Given the description of an element on the screen output the (x, y) to click on. 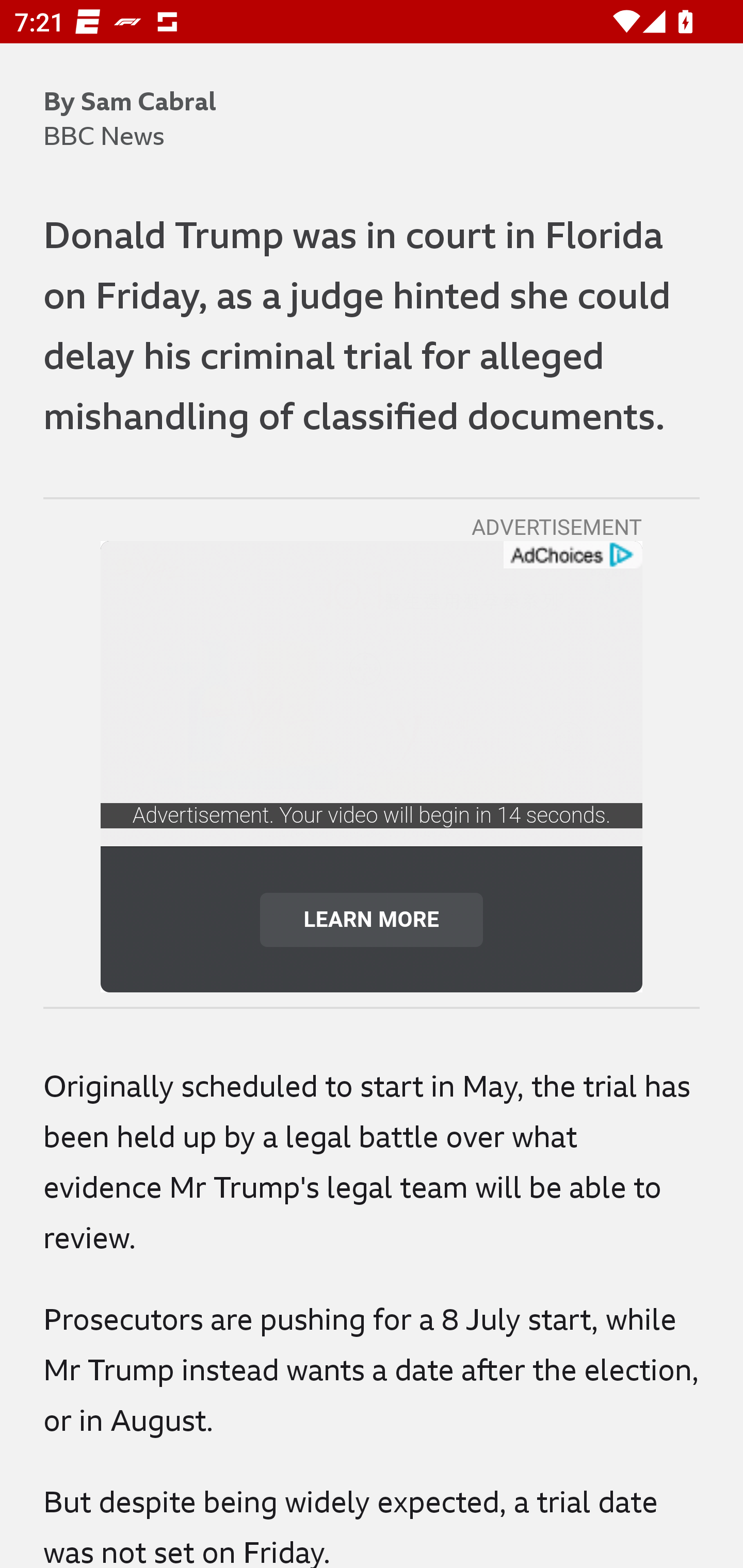
Video Player get?name=admarker-full-tl   (371, 694)
get?name=admarker-full-tl (571, 554)
LEARN MORE (371, 918)
